Given the description of an element on the screen output the (x, y) to click on. 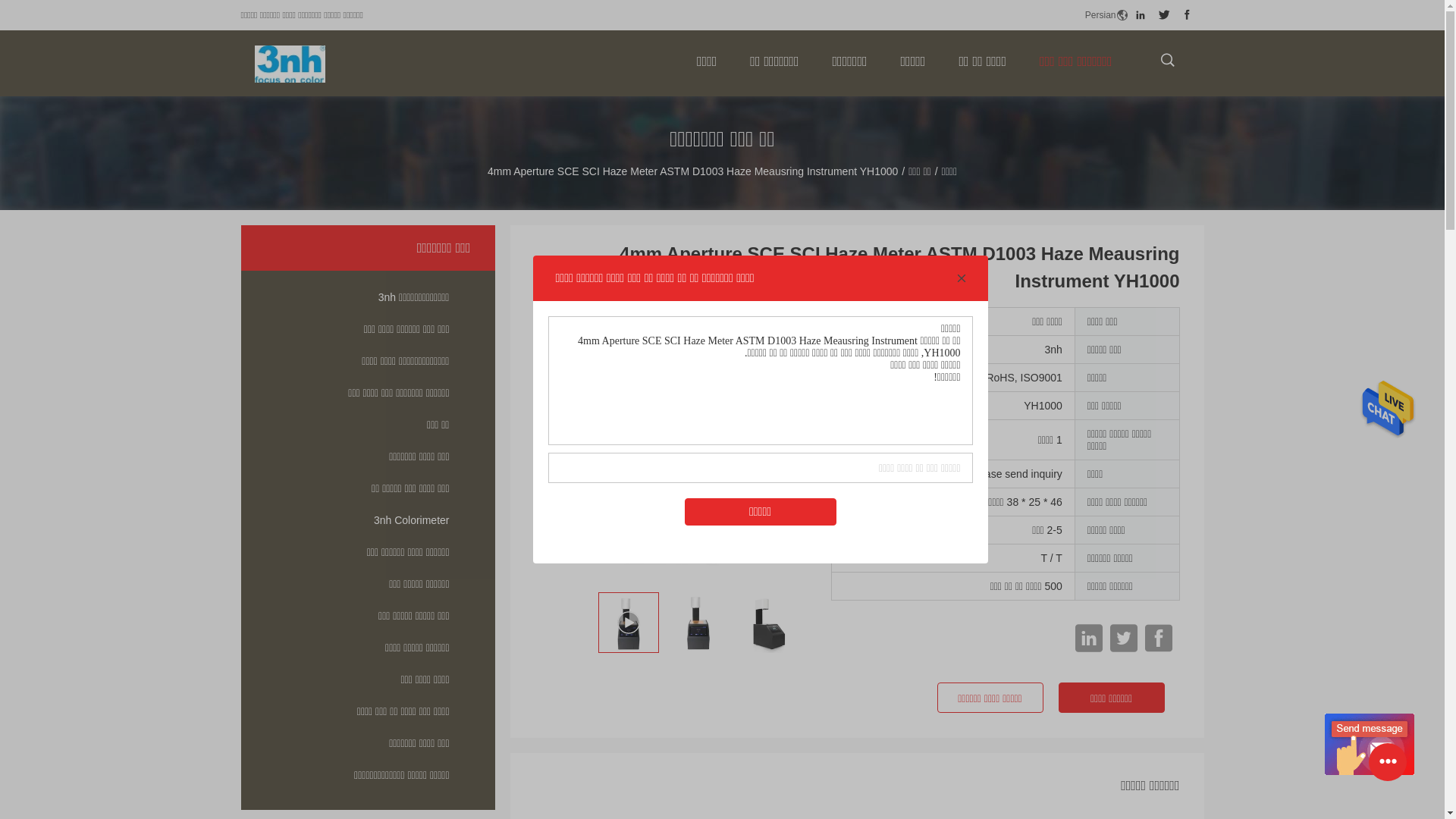
Shenzhen ThreeNH Technology Co., Ltd. Twitter Element type: hover (1164, 15)
Shenzhen ThreeNH Technology Co., Ltd. LinkedIn Element type: hover (1088, 638)
Shenzhen ThreeNH Technology Co., Ltd. Facebook Element type: hover (1186, 15)
Shenzhen ThreeNH Technology Co., Ltd. Twitter Element type: hover (1123, 638)
Shenzhen ThreeNH Technology Co., Ltd. LinkedIn Element type: hover (1140, 15)
0 Element type: text (136, 136)
3nh Colorimeter Element type: text (368, 520)
Shenzhen ThreeNH Technology Co., Ltd. Facebook Element type: hover (1158, 638)
